Given the description of an element on the screen output the (x, y) to click on. 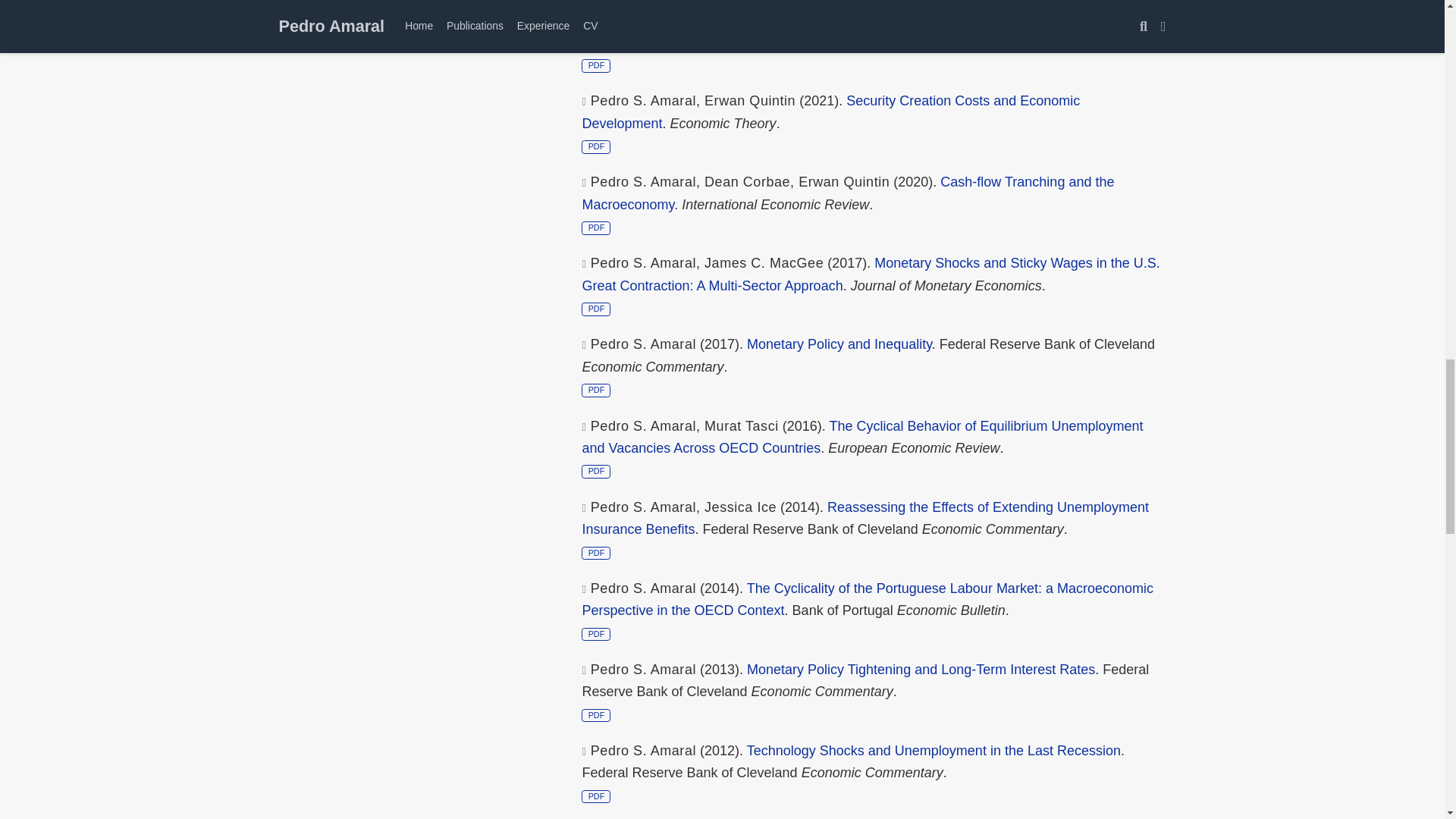
PDF (595, 308)
Monetary Policy and Inequality (838, 344)
Cash-flow Tranching and the Macroeconomy (846, 193)
PDF (595, 390)
PDF (595, 65)
The demographic transition and the asset supply channel (919, 19)
PDF (595, 471)
PDF (595, 227)
Security Creation Costs and Economic Development (830, 112)
PDF (595, 146)
